Given the description of an element on the screen output the (x, y) to click on. 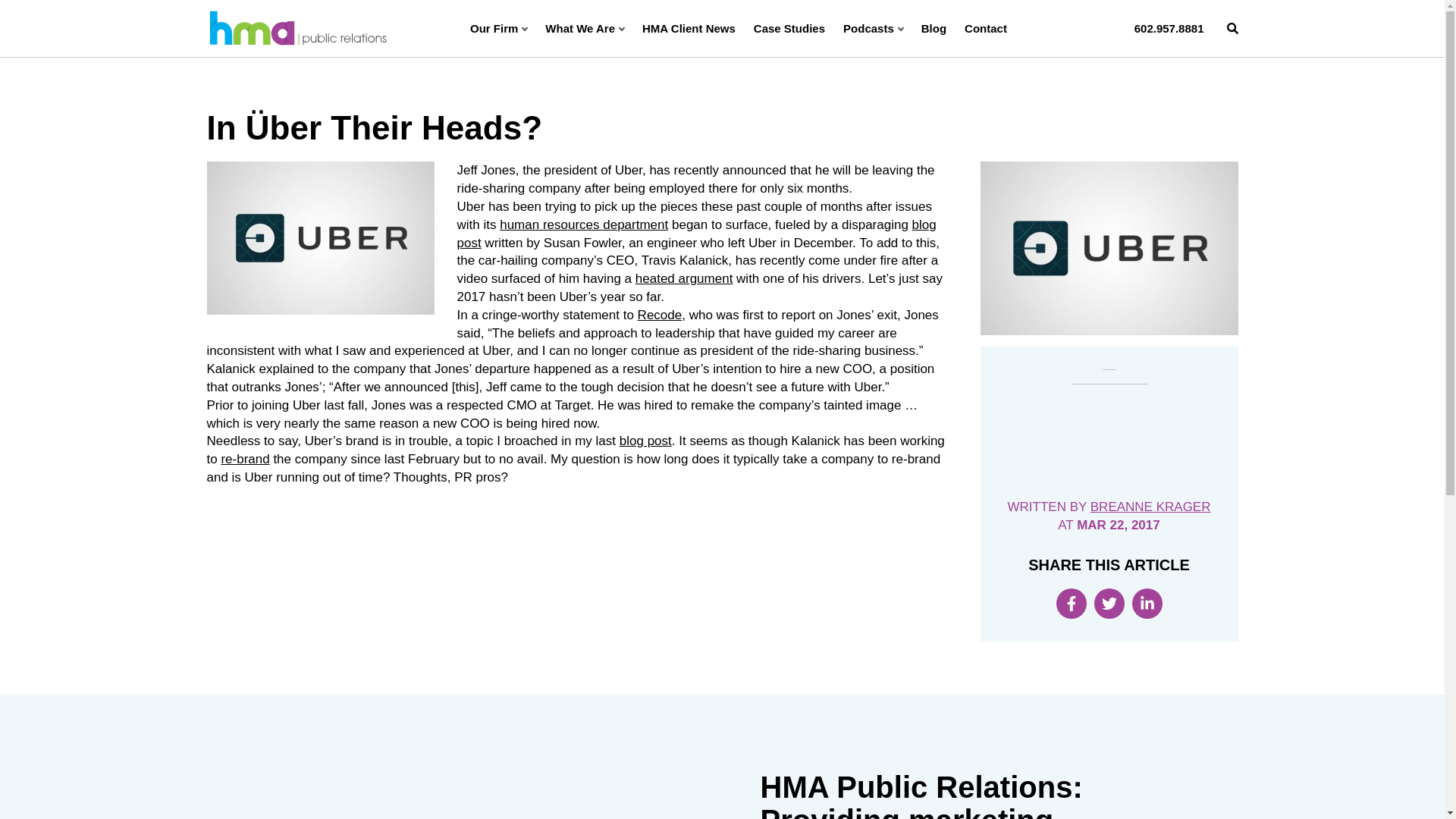
blog post (696, 233)
BREANNE KRAGER (1150, 506)
Recode (659, 314)
Contact (985, 28)
Posts by Breanne Krager (1150, 506)
re-brand (245, 459)
Podcasts (872, 28)
Search (1233, 28)
602.957.8881 (1169, 28)
human resources department (583, 224)
What We Are (584, 28)
Our Firm (498, 28)
Case Studies (789, 28)
Blog (933, 28)
